Given the description of an element on the screen output the (x, y) to click on. 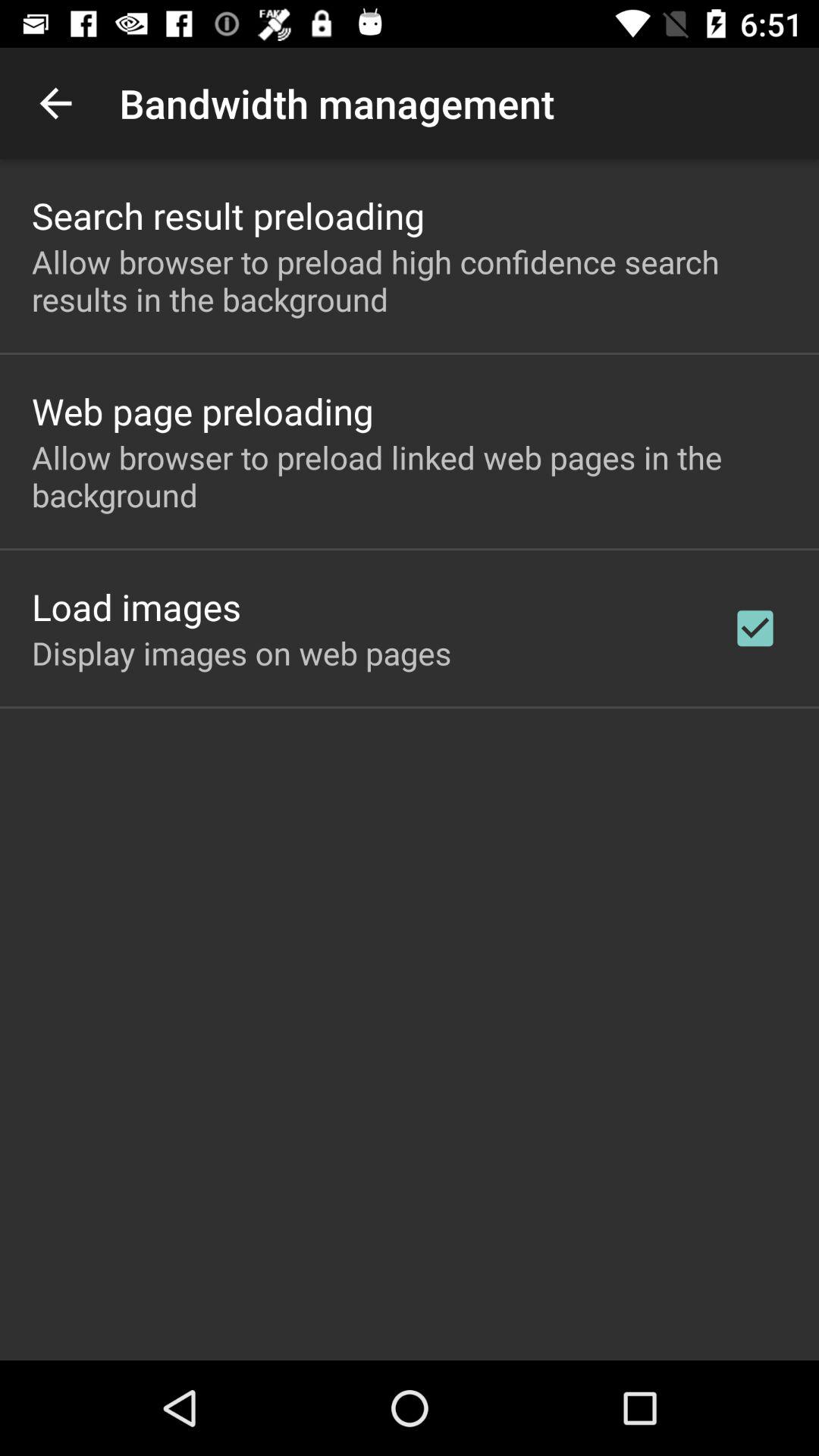
choose the web page preloading (202, 410)
